Given the description of an element on the screen output the (x, y) to click on. 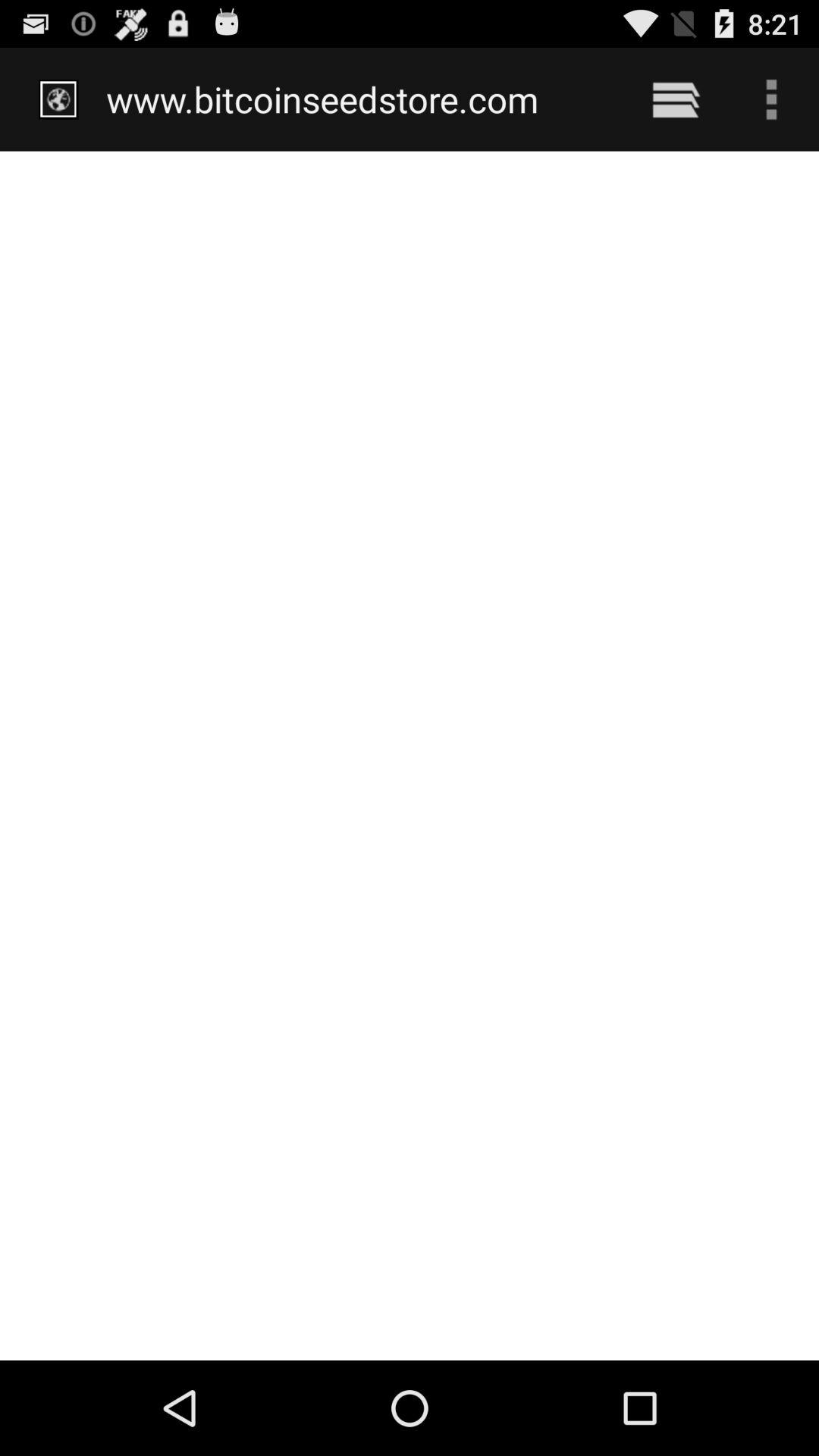
press the item below the www.bitcoinseedstore.com (409, 755)
